Given the description of an element on the screen output the (x, y) to click on. 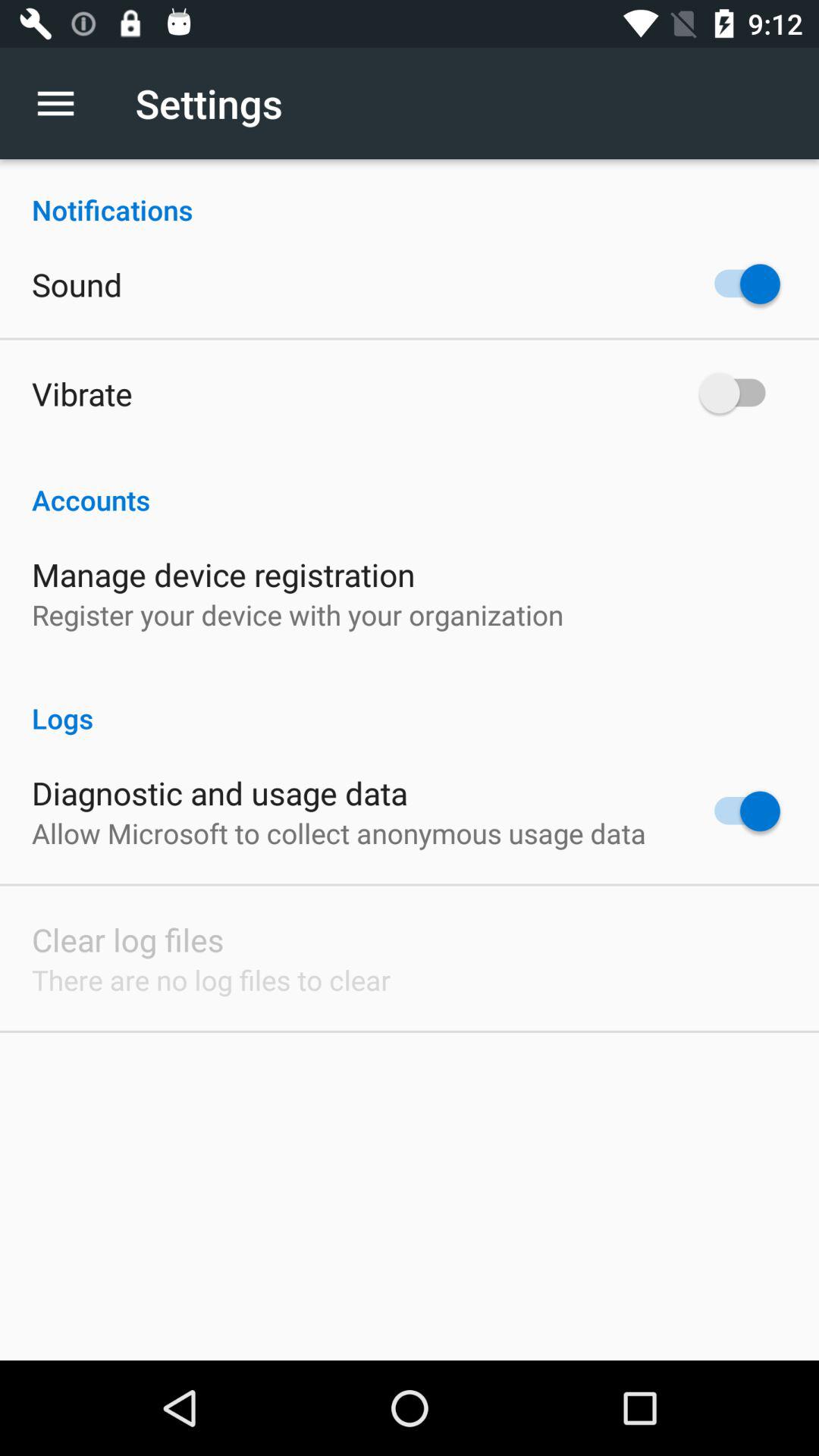
jump until the there are no item (210, 979)
